Given the description of an element on the screen output the (x, y) to click on. 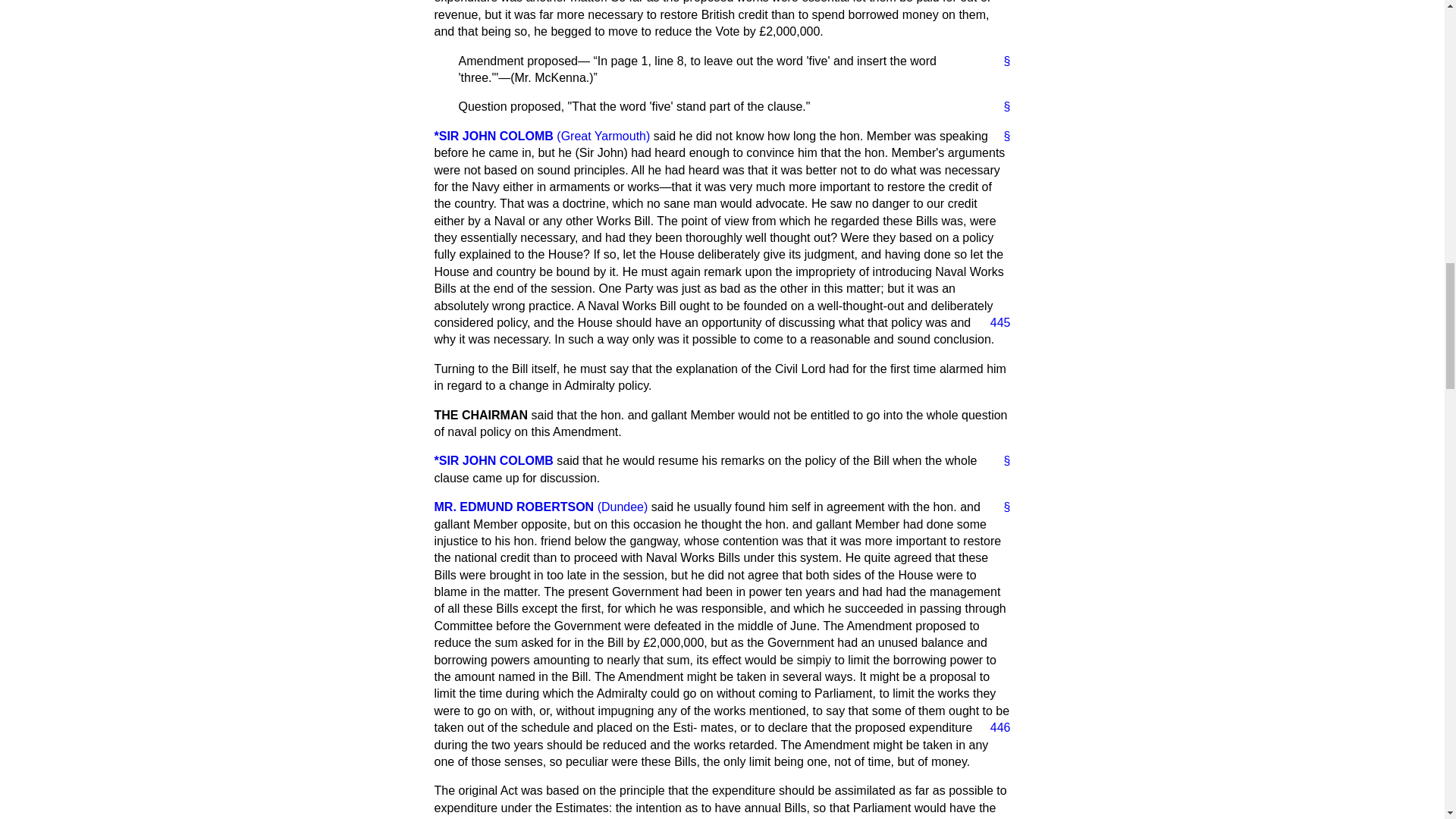
Link to this speech by Mr John Colomb (1000, 460)
MR. EDMUND ROBERTSON (513, 506)
Link to this contribution (1000, 61)
Link to this contribution (1000, 106)
Link to this speech by Mr John Colomb (1000, 135)
446 (994, 727)
Mr John Colomb (493, 135)
445 (994, 322)
Great Yarmouth (602, 135)
